Given the description of an element on the screen output the (x, y) to click on. 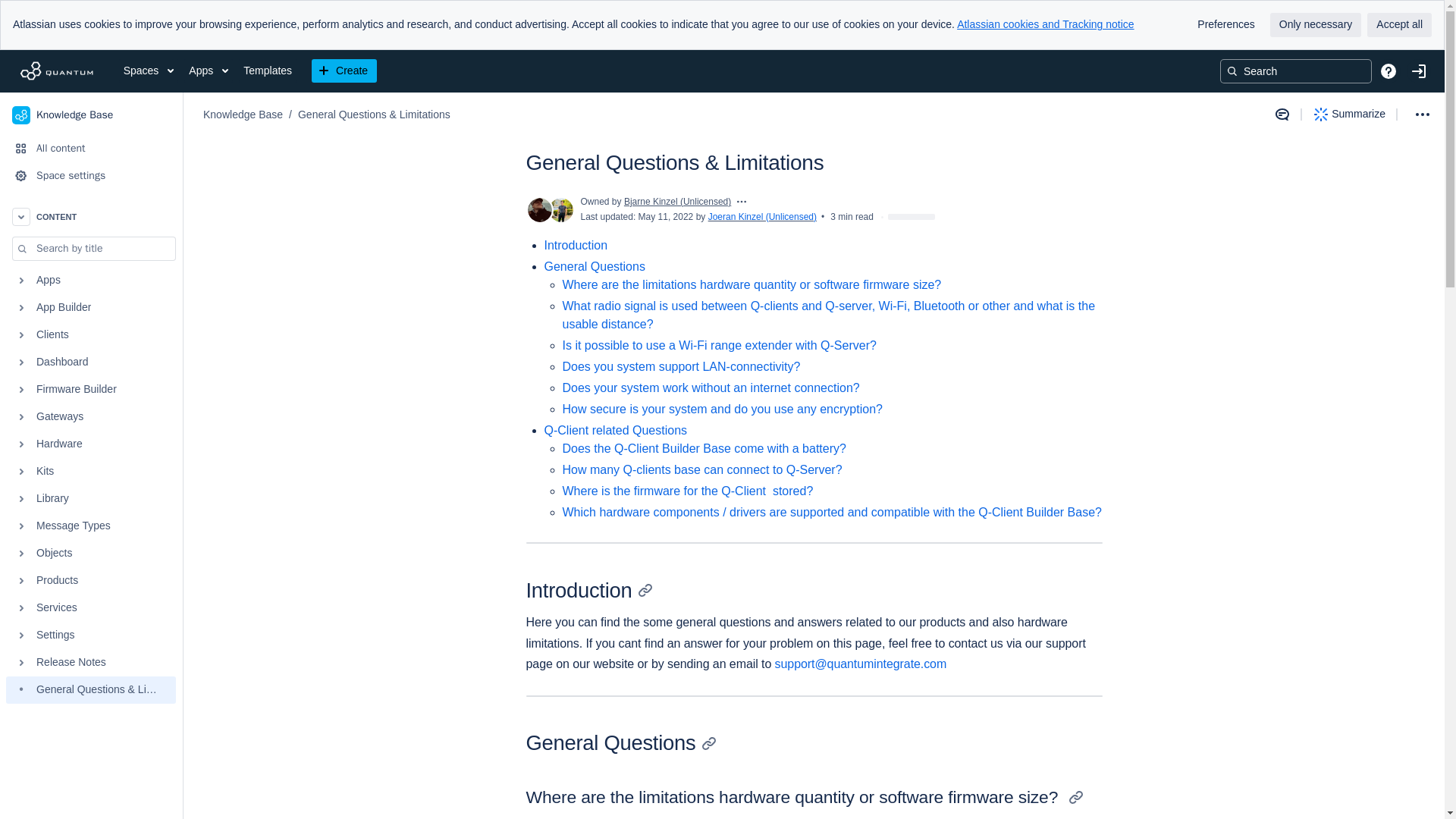
Spaces (149, 70)
Message Types (90, 525)
Knowledge Base (90, 114)
Library (90, 498)
Hardware (90, 443)
Gateways (90, 416)
Accept all (1399, 24)
CONTENT (90, 216)
Templates (267, 70)
Atlassian cookies and Tracking notice (1045, 24)
Only necessary (1315, 24)
Firmware Builder (90, 389)
Clients (90, 334)
Create (344, 70)
Dashboard (90, 361)
